Given the description of an element on the screen output the (x, y) to click on. 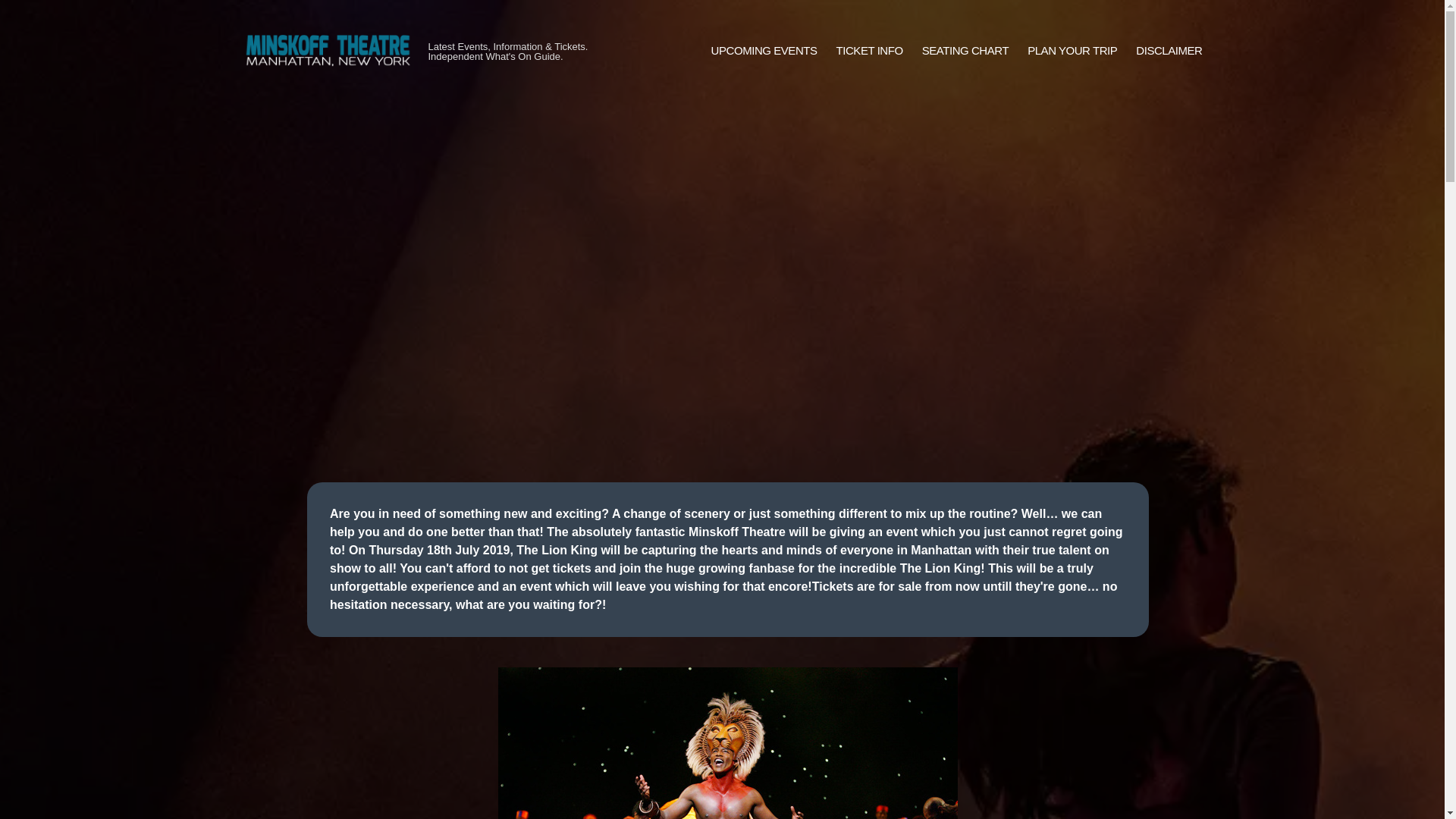
SEATING CHART (965, 50)
The Lion King at Minskoff Theatre (727, 743)
DISCLAIMER (1168, 50)
TICKET INFO (868, 50)
PLAN YOUR TRIP (1071, 50)
UPCOMING EVENTS (763, 50)
